Given the description of an element on the screen output the (x, y) to click on. 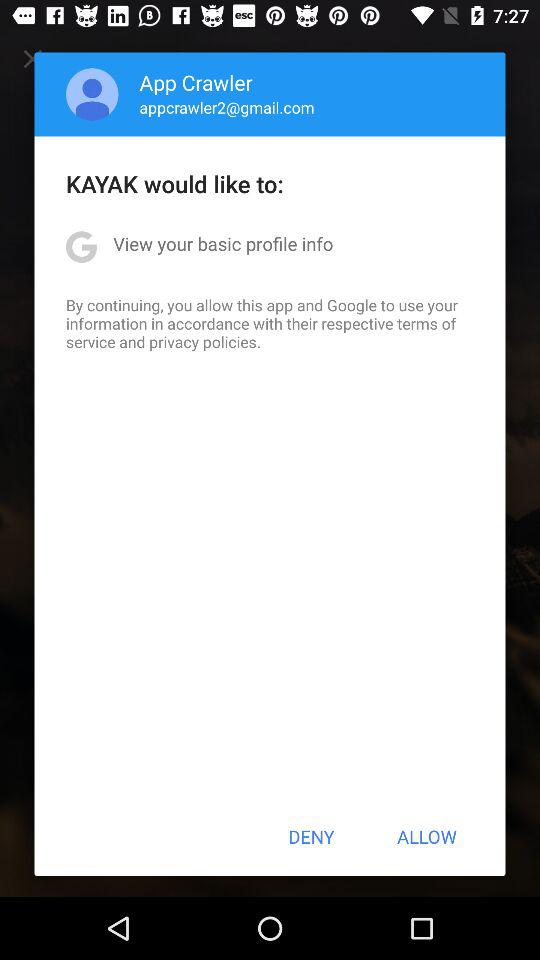
swipe to view your basic app (223, 243)
